Given the description of an element on the screen output the (x, y) to click on. 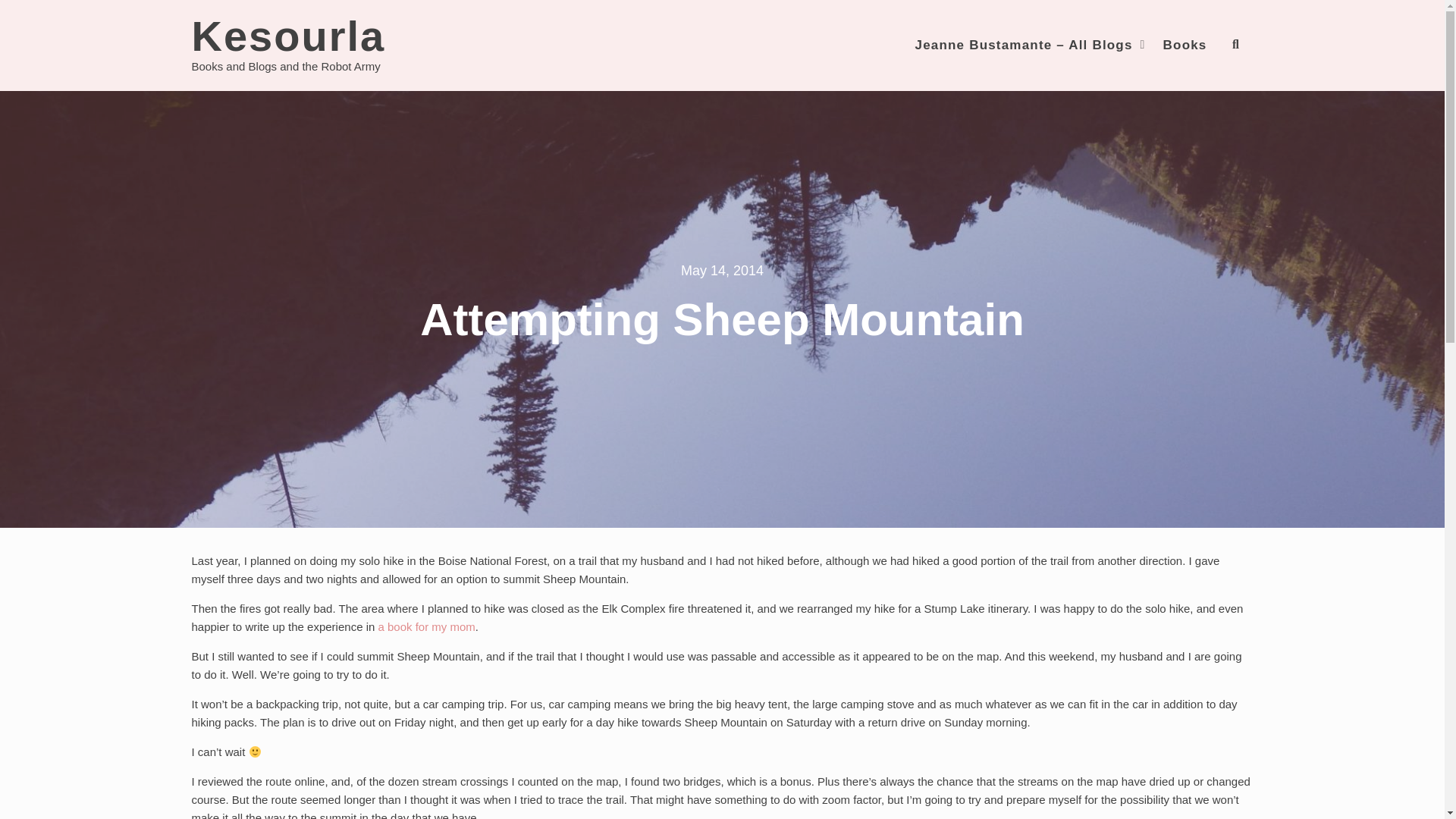
Books (1184, 45)
a book for my mom (425, 626)
Search (1202, 99)
Kesourla (287, 35)
